Given the description of an element on the screen output the (x, y) to click on. 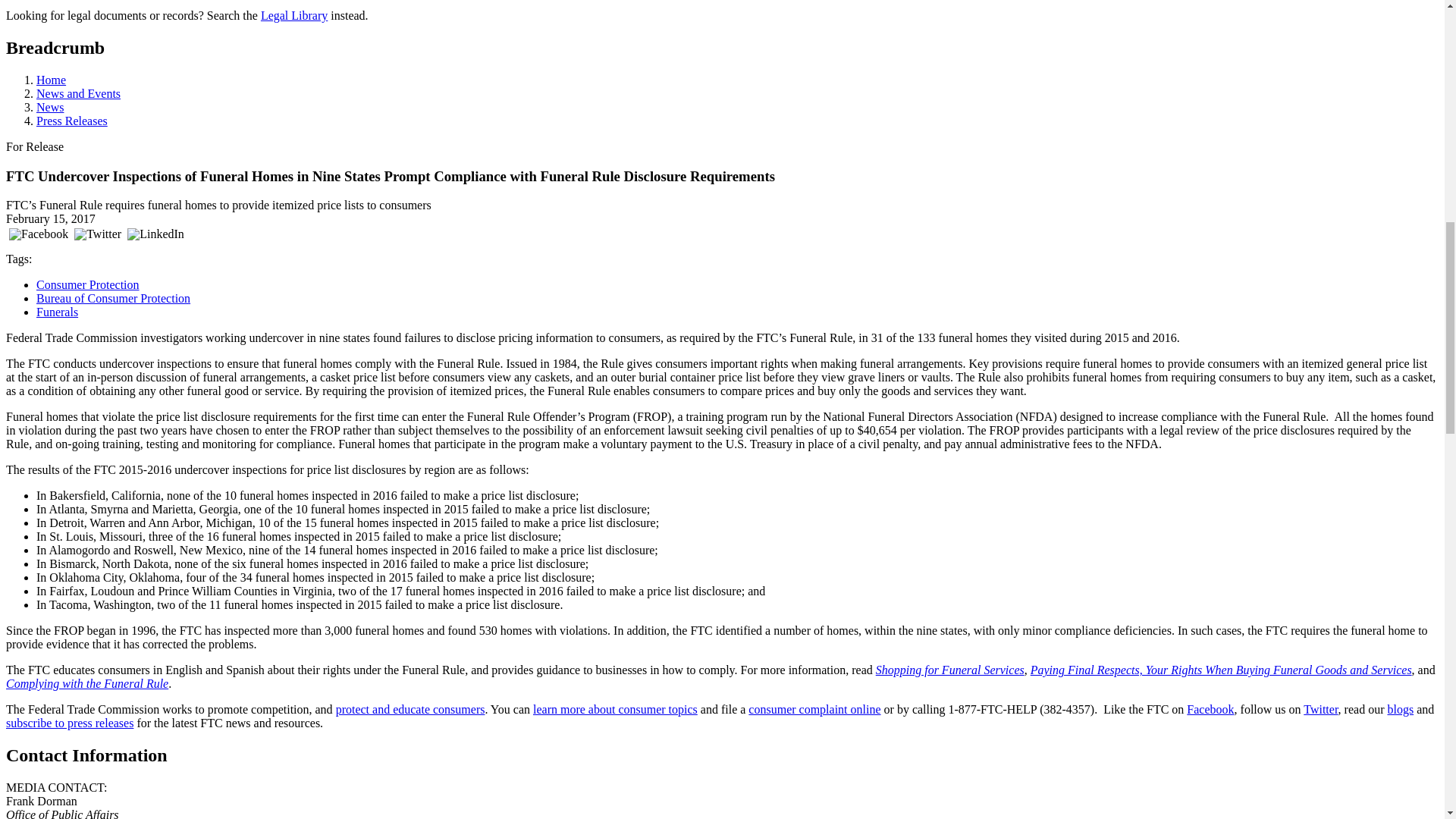
Home (50, 79)
News (50, 106)
Press Releases (71, 120)
News and Events (78, 92)
Legal Library (293, 15)
